Given the description of an element on the screen output the (x, y) to click on. 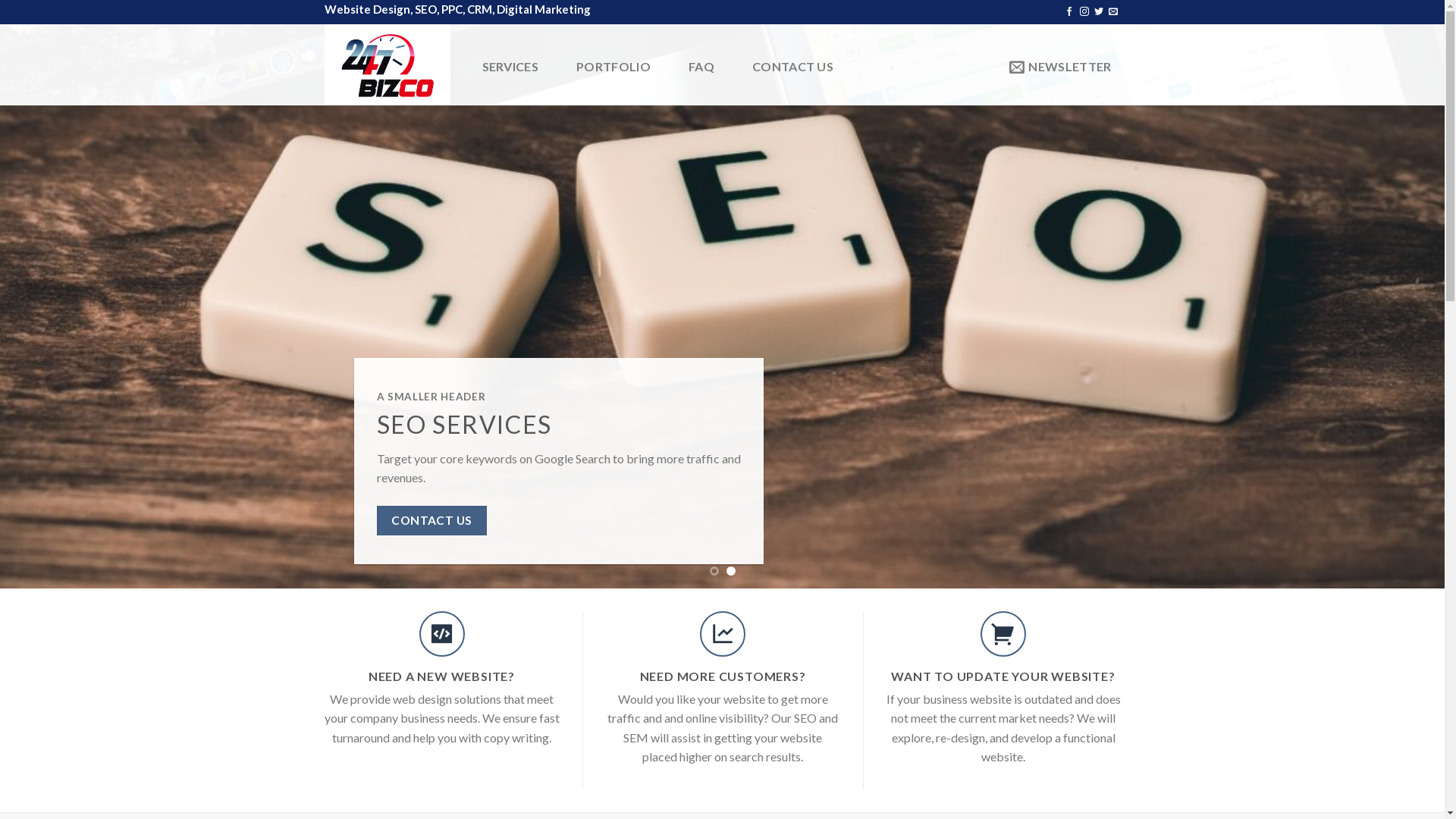
FAQ Element type: text (701, 65)
247 Bizco - Web design services Element type: hover (387, 64)
Follow on Facebook Element type: hover (1068, 11)
NEWSLETTER Element type: text (1060, 65)
Follow on Twitter Element type: hover (1098, 11)
Send us an email Element type: hover (1112, 11)
Follow on Instagram Element type: hover (1083, 11)
SERVICES Element type: text (510, 65)
PORTFOLIO Element type: text (613, 65)
CONTACT US Element type: text (792, 65)
CONTACT US Element type: text (431, 520)
